Given the description of an element on the screen output the (x, y) to click on. 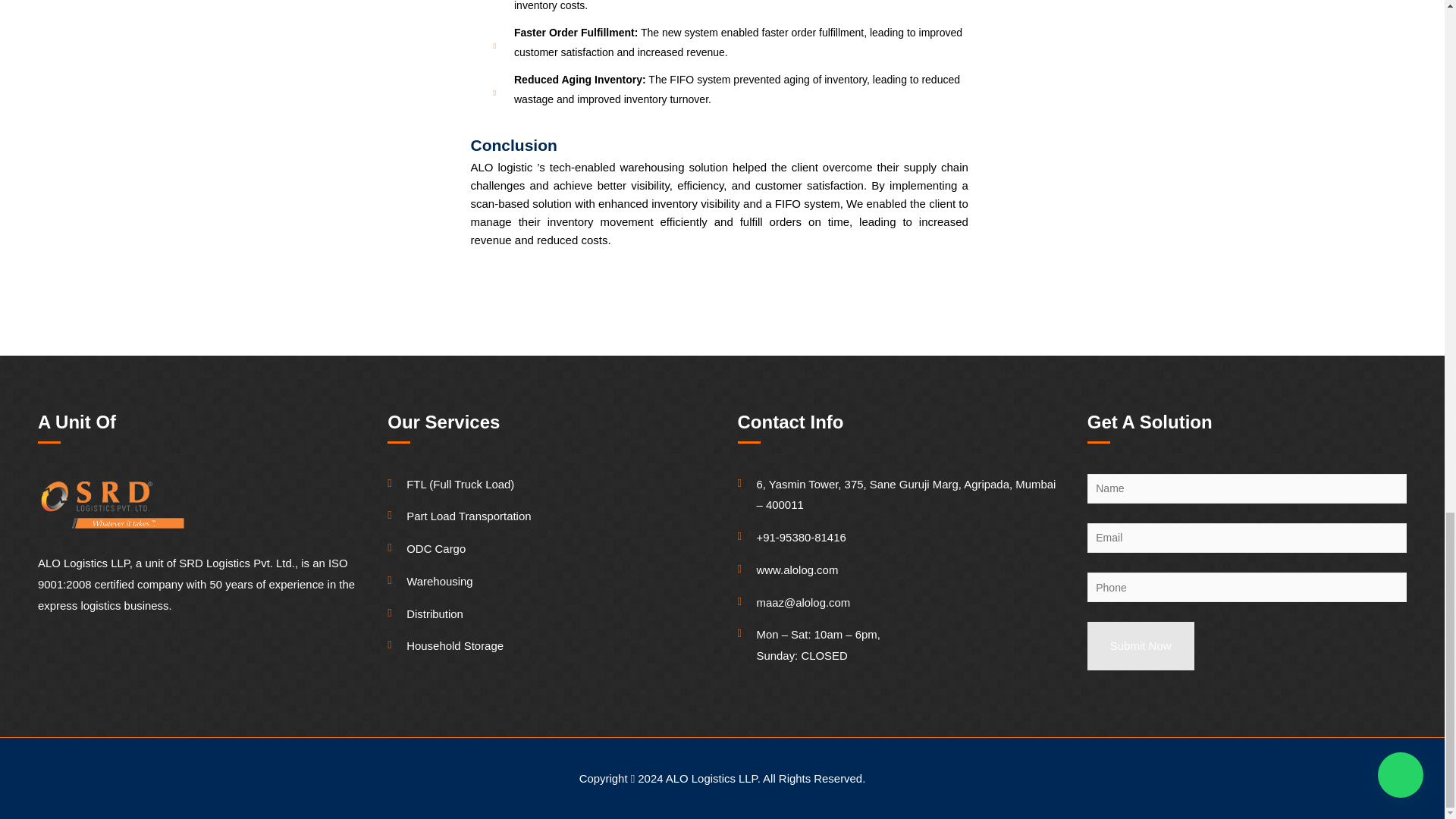
Part Load Transportation (546, 516)
Submit now (1140, 645)
